Given the description of an element on the screen output the (x, y) to click on. 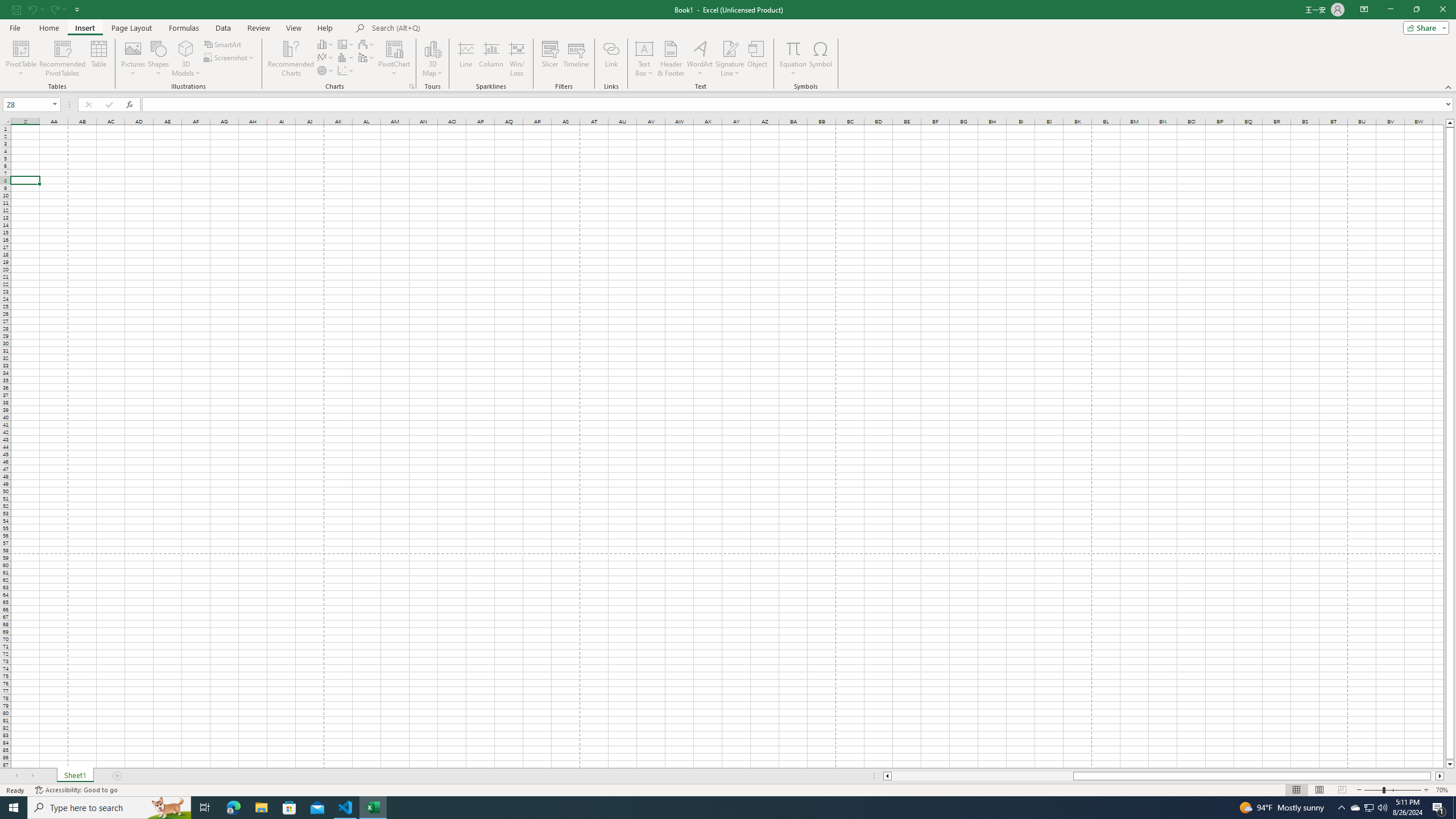
Win/Loss (516, 58)
Signature Line (729, 58)
Equation (793, 48)
PivotTable (20, 48)
PivotChart (394, 58)
Link (611, 58)
